Given the description of an element on the screen output the (x, y) to click on. 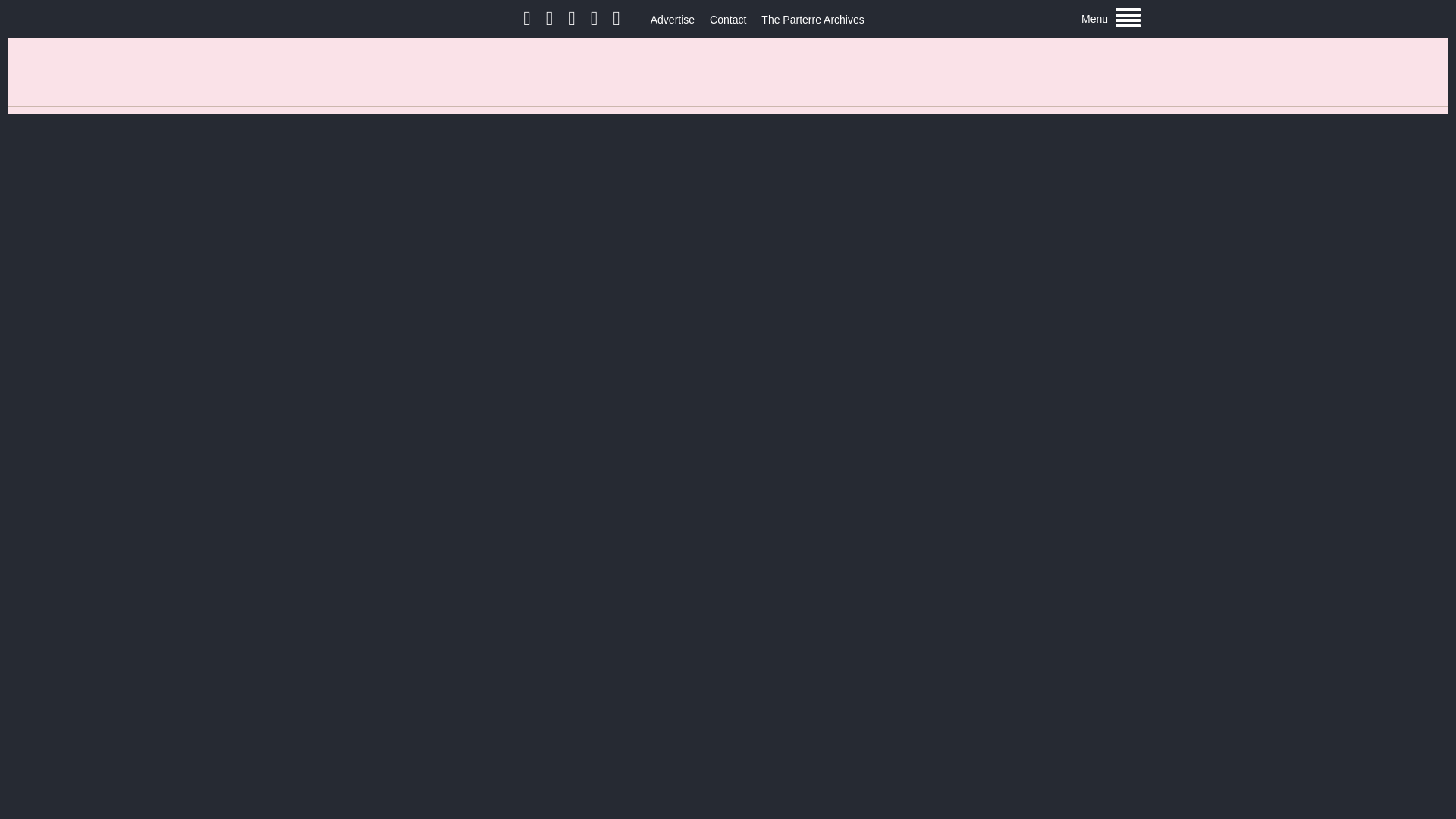
Menu (1110, 18)
Contact (727, 19)
Advertise (672, 19)
Home (728, 71)
The Parterre Archives (812, 19)
